Given the description of an element on the screen output the (x, y) to click on. 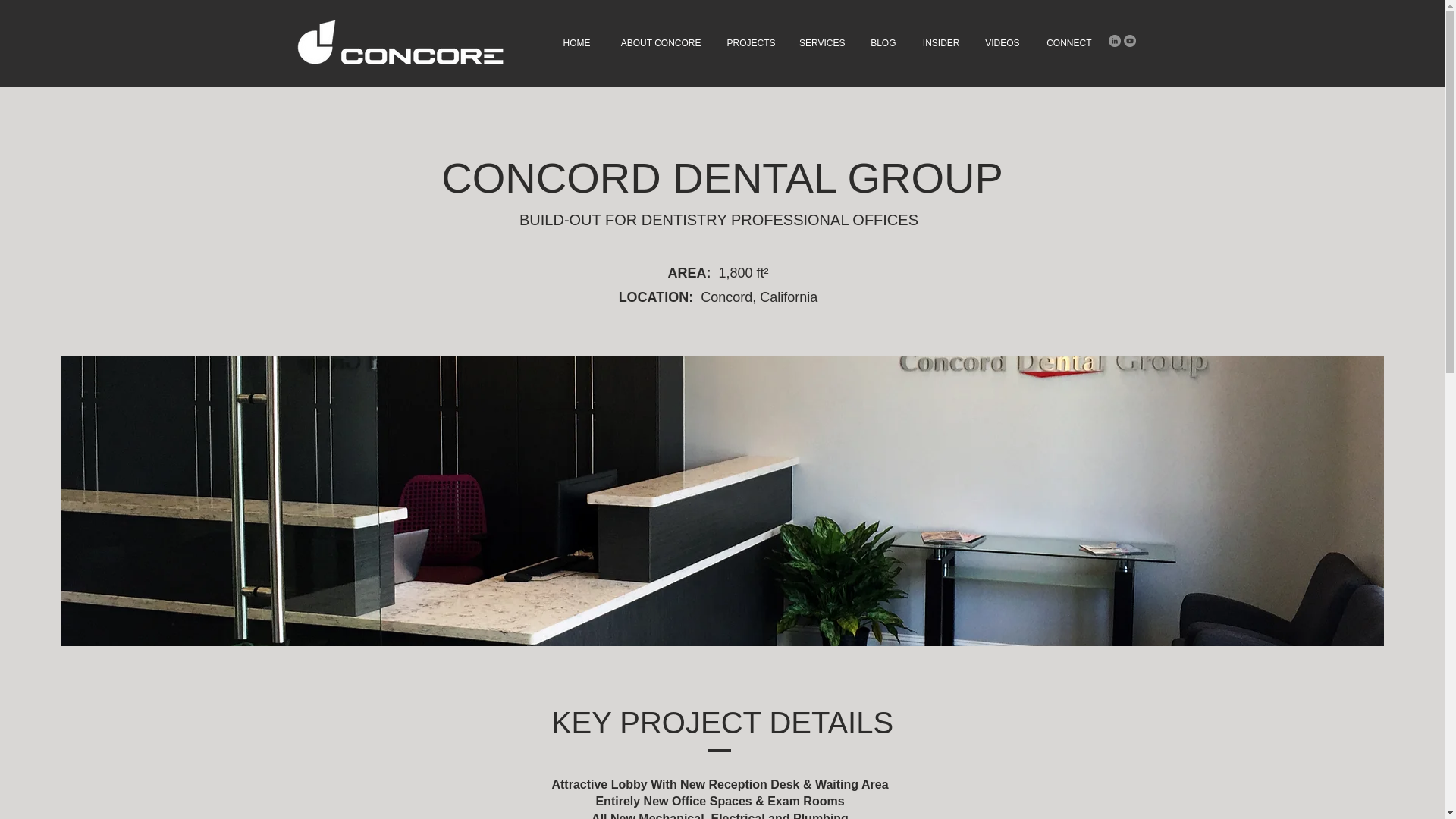
SERVICES (822, 42)
ABOUT CONCORE (657, 42)
PROJECTS (750, 42)
HOME (574, 42)
INSIDER (939, 42)
VIDEOS (1000, 42)
BLOG (882, 42)
CONNECT (1066, 42)
